Given the description of an element on the screen output the (x, y) to click on. 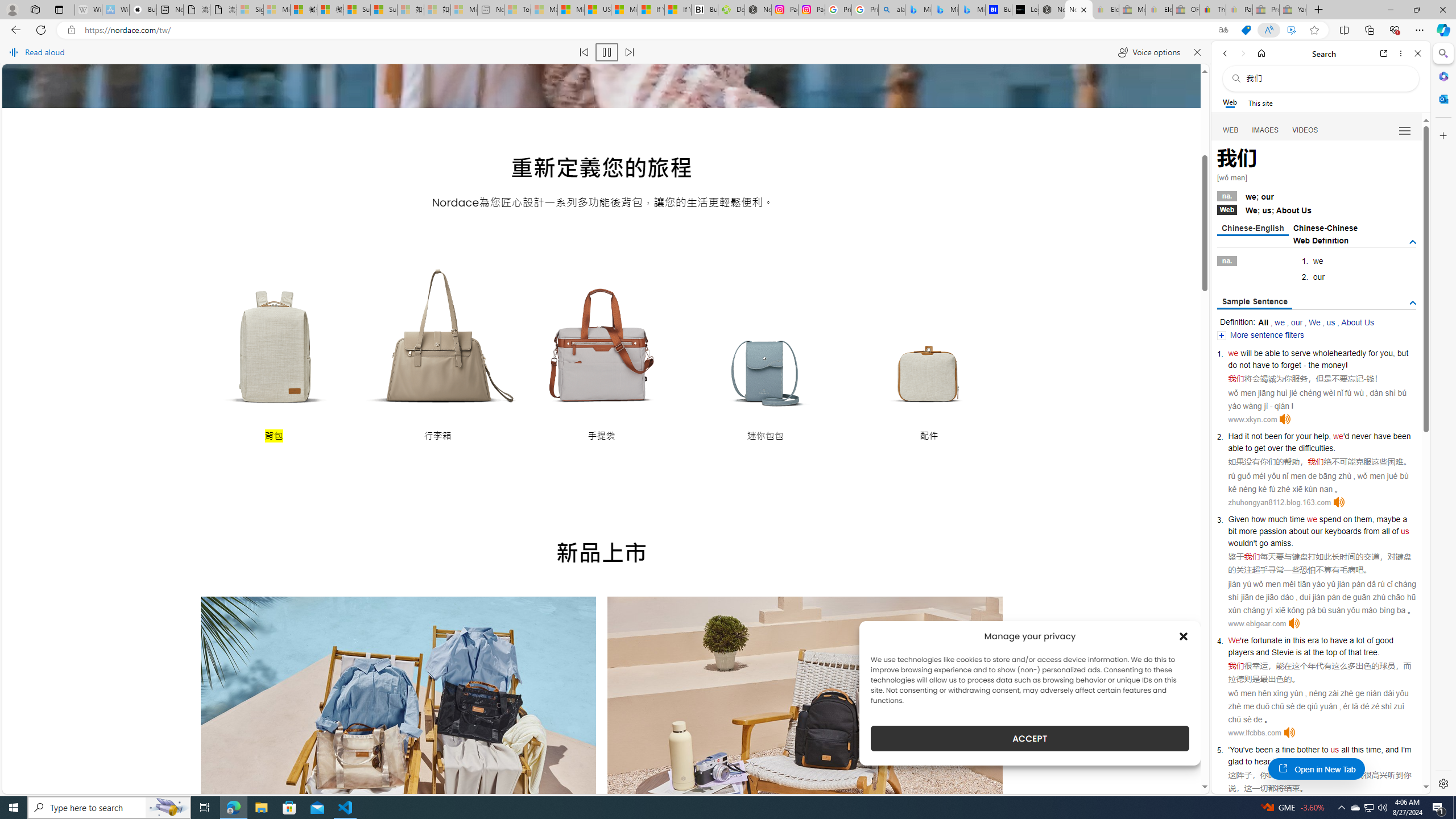
Top Stories - MSN - Sleeping (517, 9)
Microsoft Services Agreement - Sleeping (277, 9)
over (1275, 447)
hear (1262, 760)
alabama high school quarterback dies - Search (891, 9)
WebWe; us; About Us (1316, 209)
our (1296, 322)
